Given the description of an element on the screen output the (x, y) to click on. 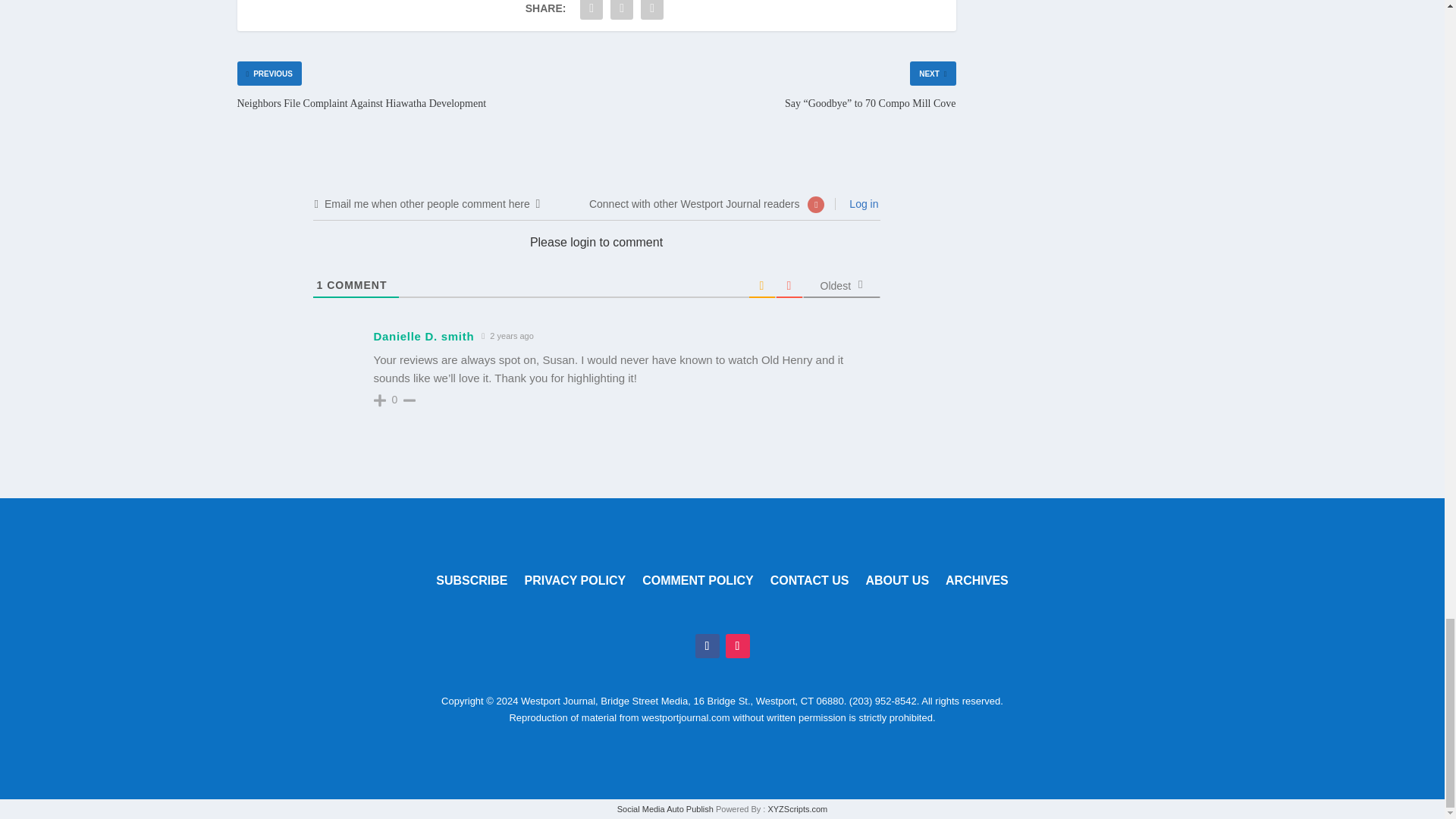
Follow on Facebook (706, 645)
0 (394, 399)
October 15, 2021 5:29 pm (507, 336)
Share "Watching with Susan Granger Oct. 15" via Twitter (622, 11)
Share "Watching with Susan Granger Oct. 15" via Email (651, 11)
Share "Watching with Susan Granger Oct. 15" via Facebook (591, 11)
